Given the description of an element on the screen output the (x, y) to click on. 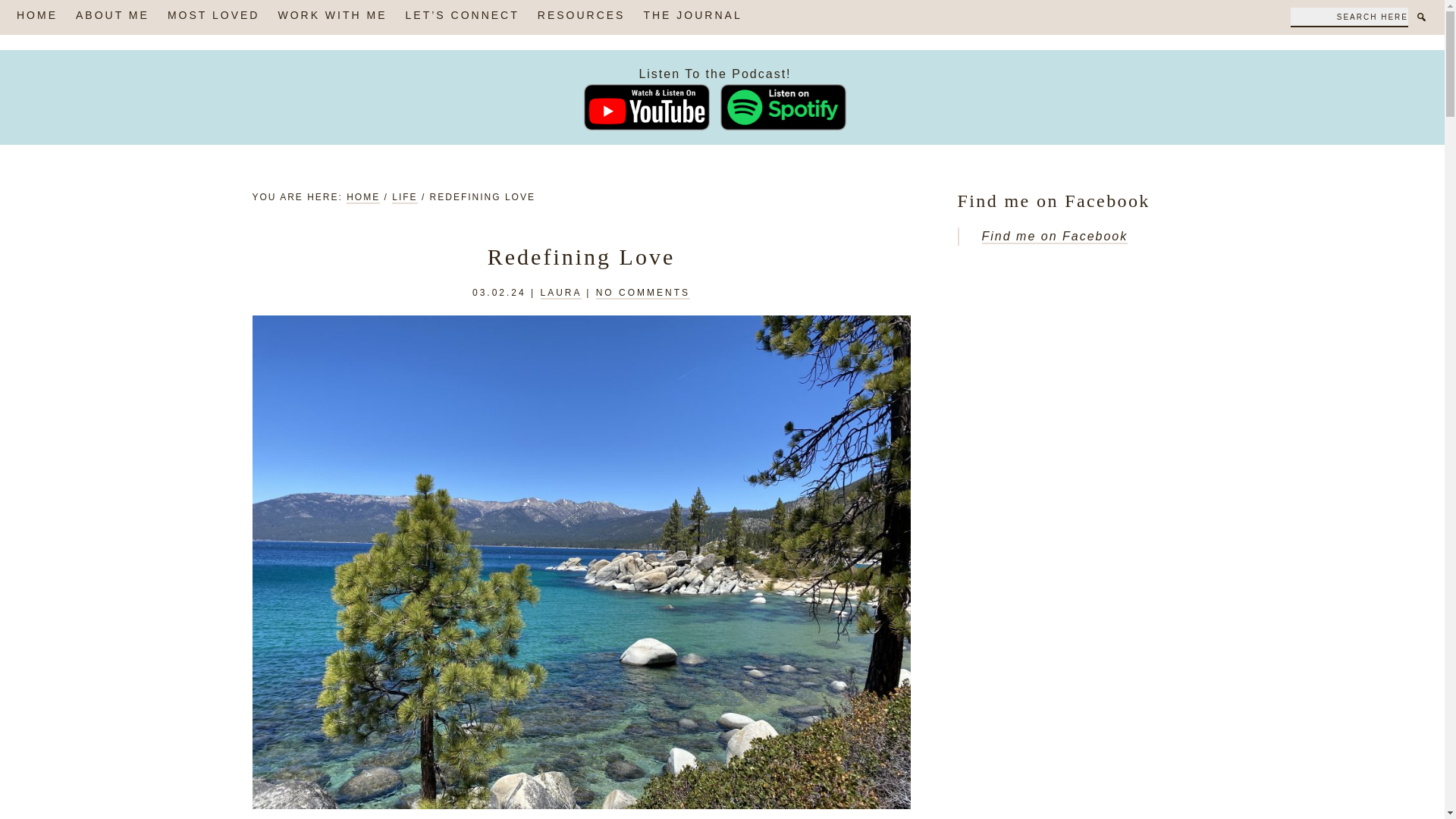
ABOUT ME (112, 17)
THE JOURNAL (692, 17)
LIFE (403, 197)
HOME (37, 17)
RESOURCES (581, 17)
NO COMMENTS (642, 293)
WORK WITH ME (332, 17)
HOME (363, 197)
MOST LOVED (213, 17)
Find me on Facebook (1053, 237)
